Given the description of an element on the screen output the (x, y) to click on. 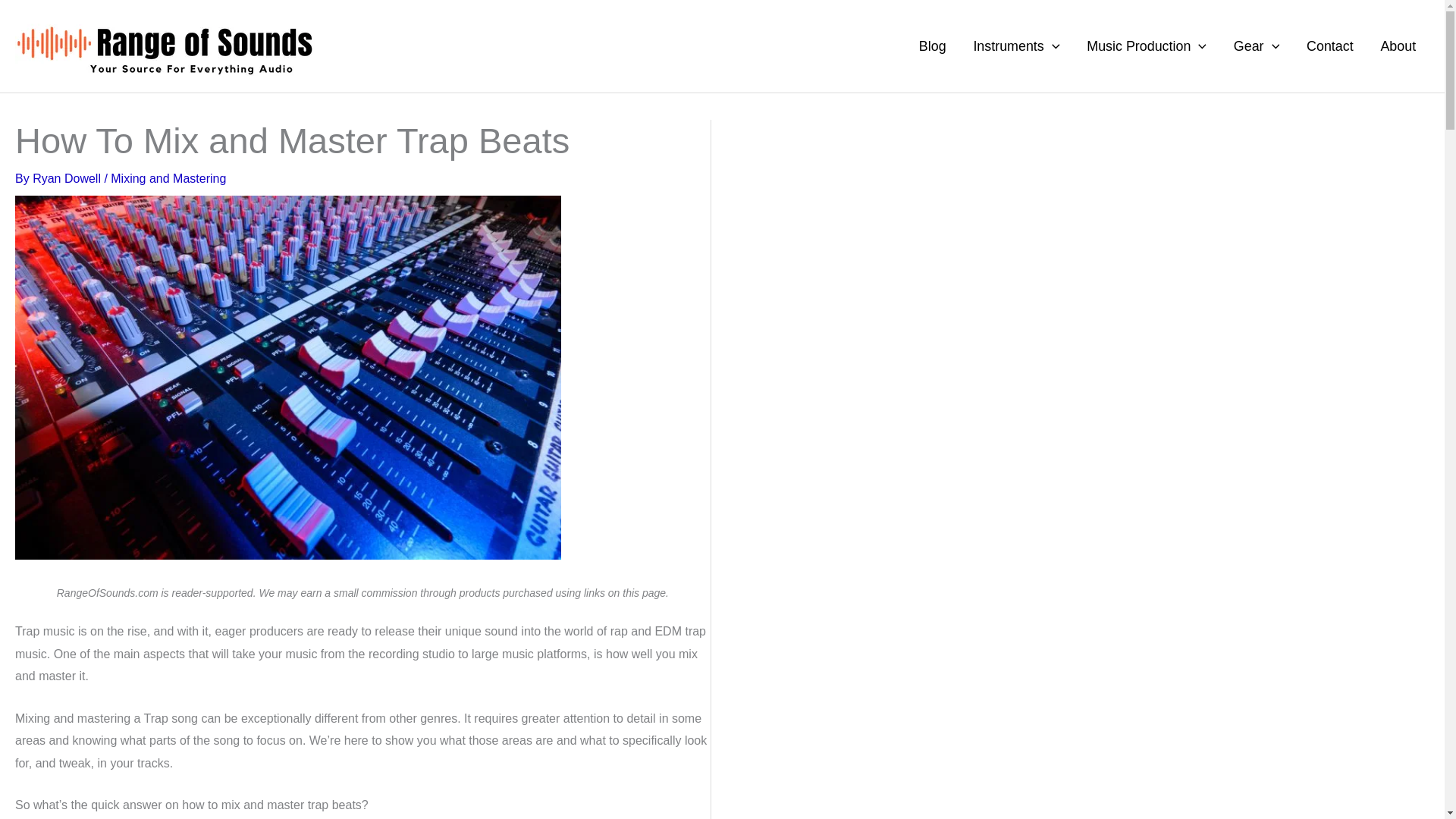
Blog (932, 45)
View all posts by Ryan Dowell (67, 178)
Contact (1329, 45)
About (1398, 45)
Music Production (1146, 45)
Gear (1256, 45)
Instruments (1016, 45)
